Given the description of an element on the screen output the (x, y) to click on. 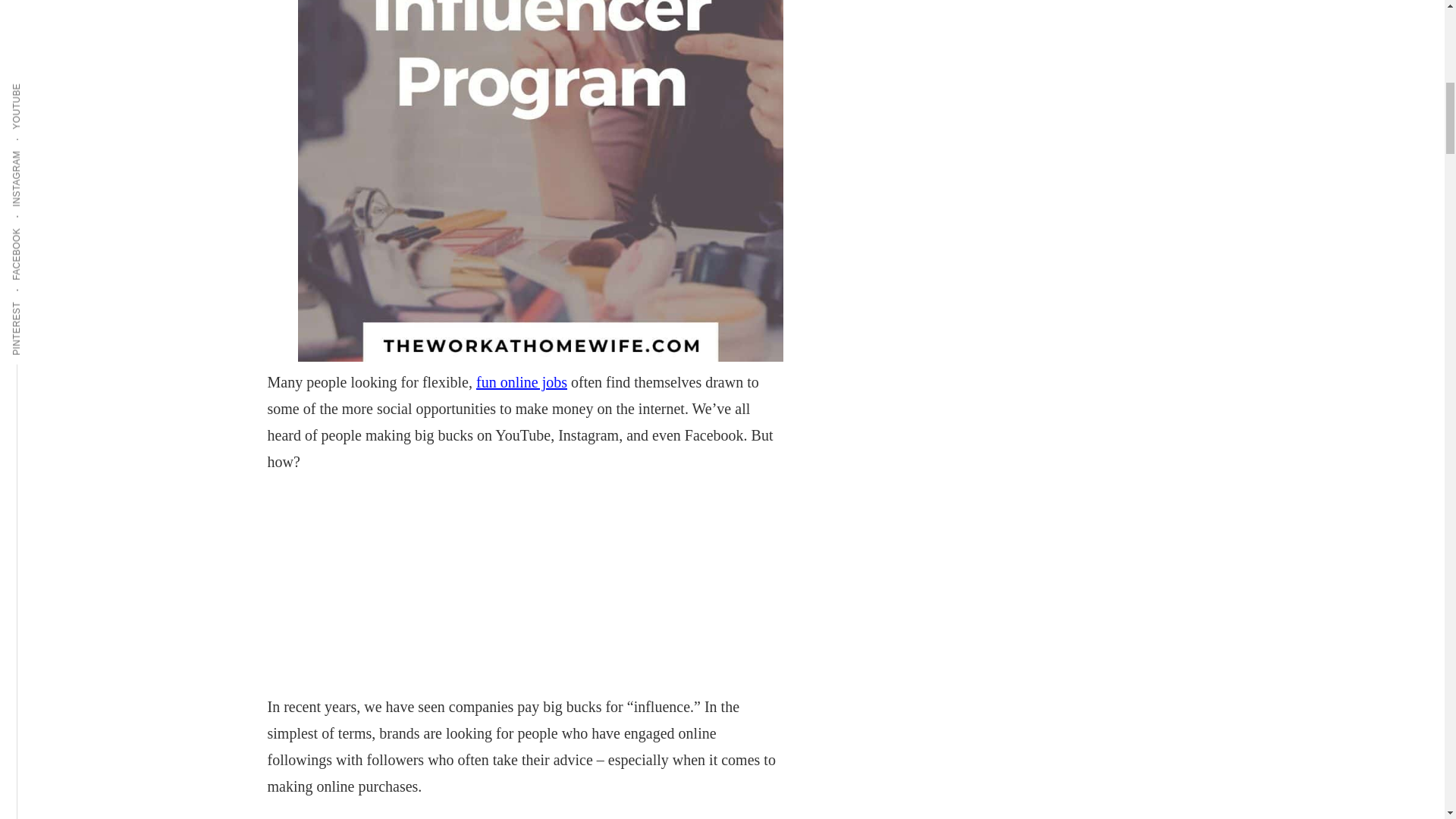
fun online jobs (521, 381)
